Given the description of an element on the screen output the (x, y) to click on. 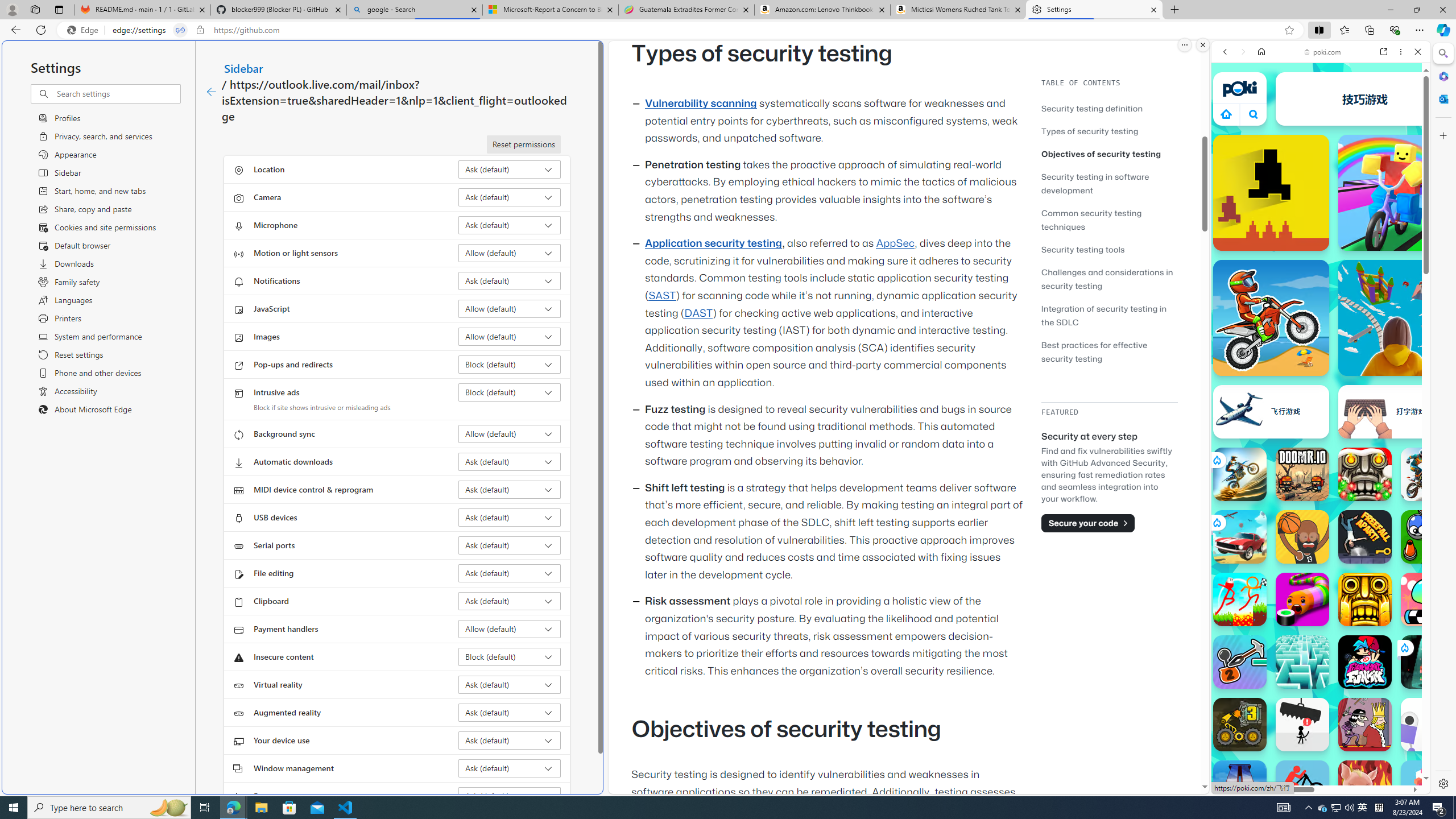
Search results from poki.com (1299, 443)
Combat Reloaded (1349, 580)
Games for Girls (1320, 407)
Intrusive ads Block (default) (509, 392)
Sushi Party (1302, 599)
poki.com (1322, 51)
Automatic downloads Ask (default) (509, 461)
Iron Snout (1364, 787)
Background sync Allow (default) (509, 434)
